Given the description of an element on the screen output the (x, y) to click on. 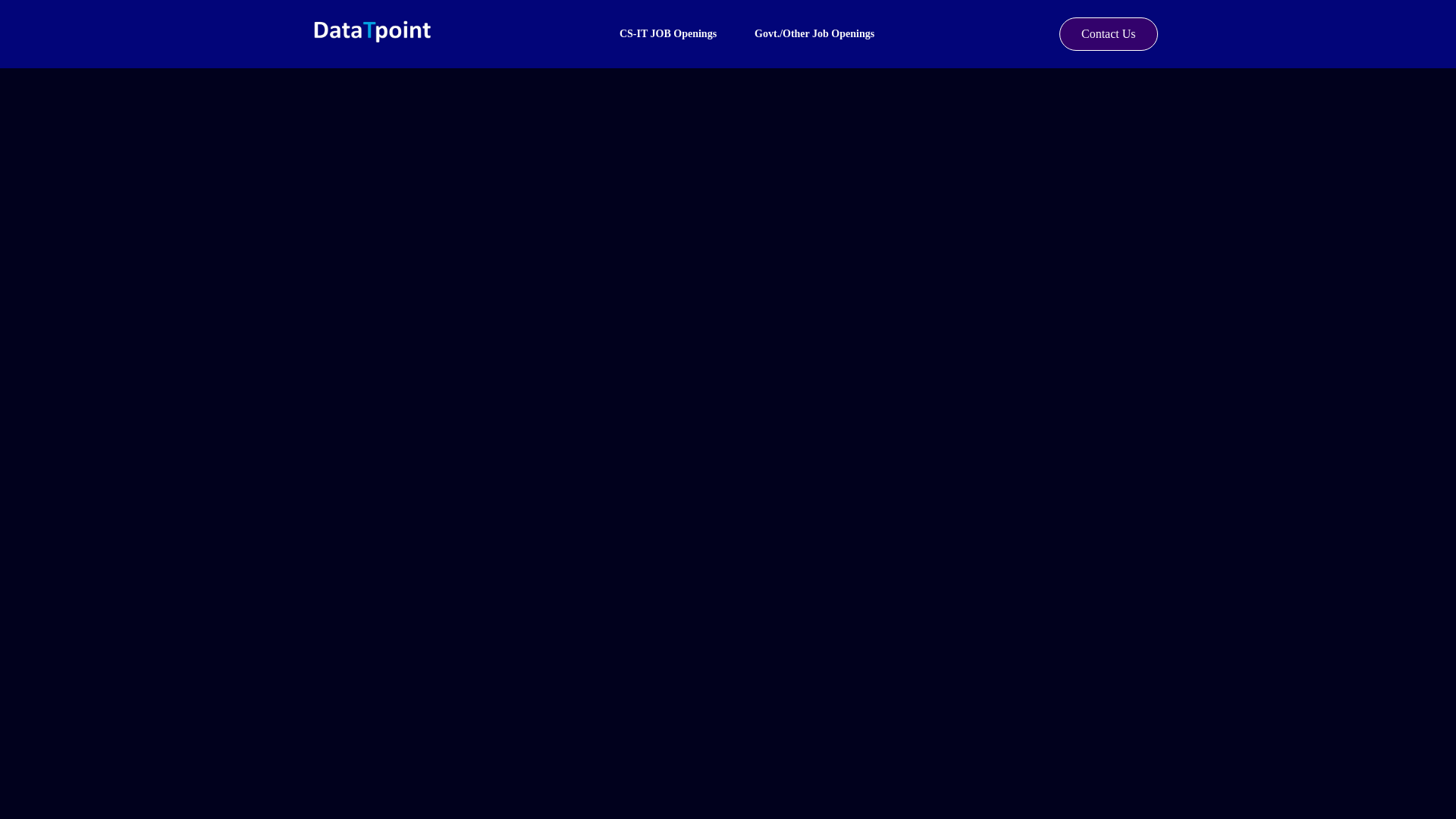
Contact Us (1108, 33)
CS-IT JOB Openings (667, 33)
